Given the description of an element on the screen output the (x, y) to click on. 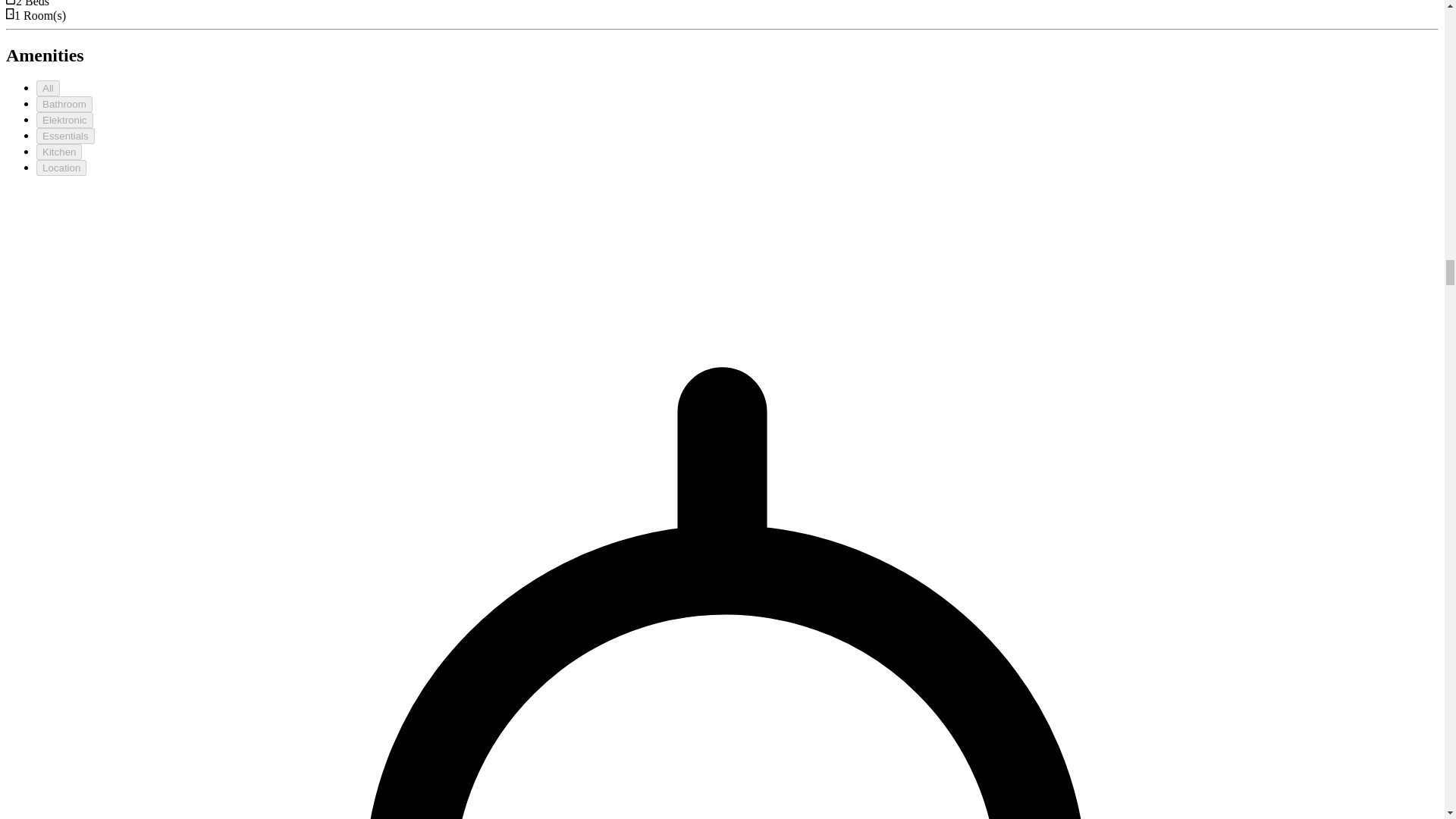
Location (60, 167)
Elektronic (64, 119)
All (47, 88)
Kitchen (58, 151)
Essentials (65, 135)
Bathroom (64, 104)
